Given the description of an element on the screen output the (x, y) to click on. 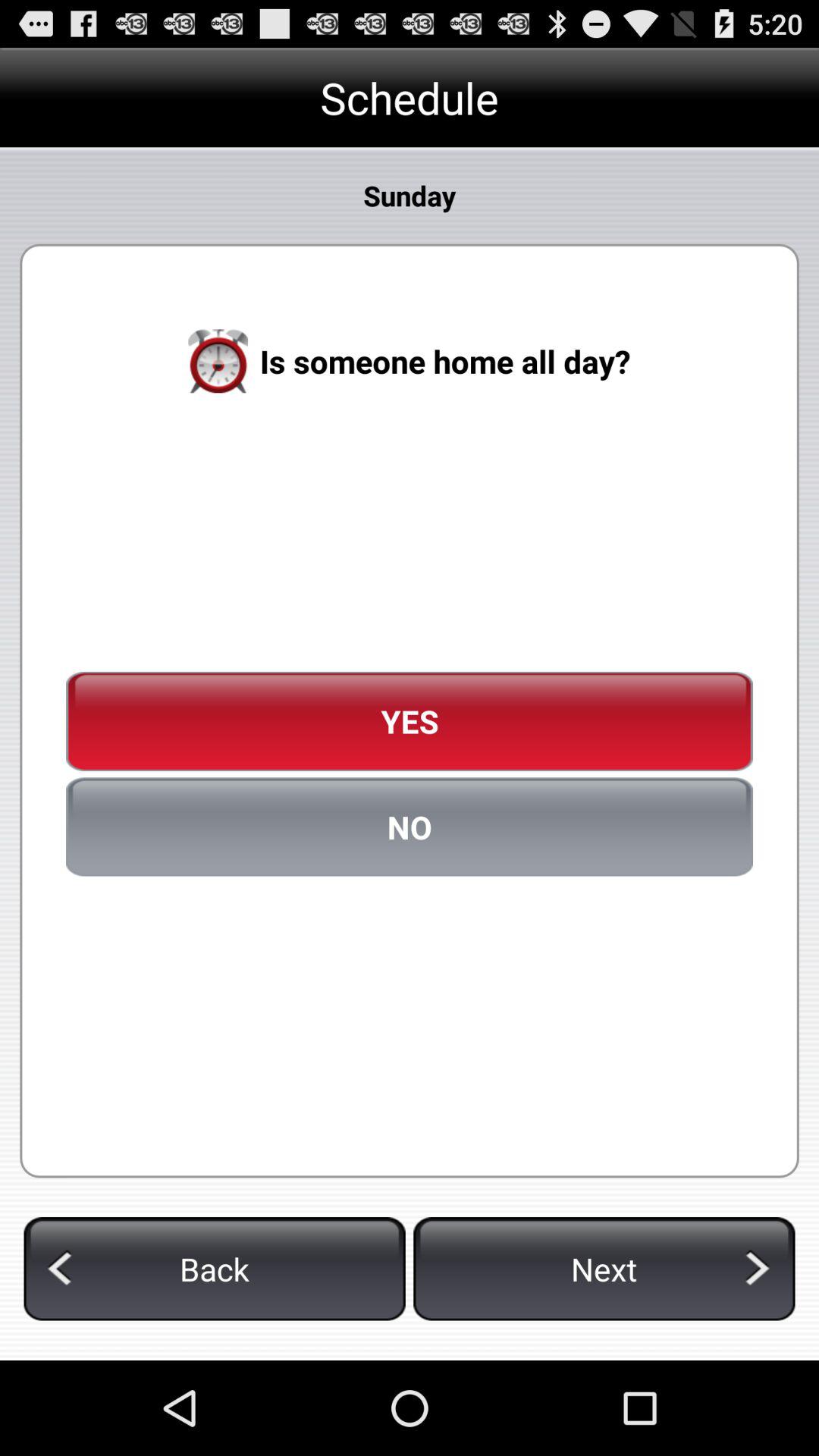
click the radio button below no item (214, 1268)
